Given the description of an element on the screen output the (x, y) to click on. 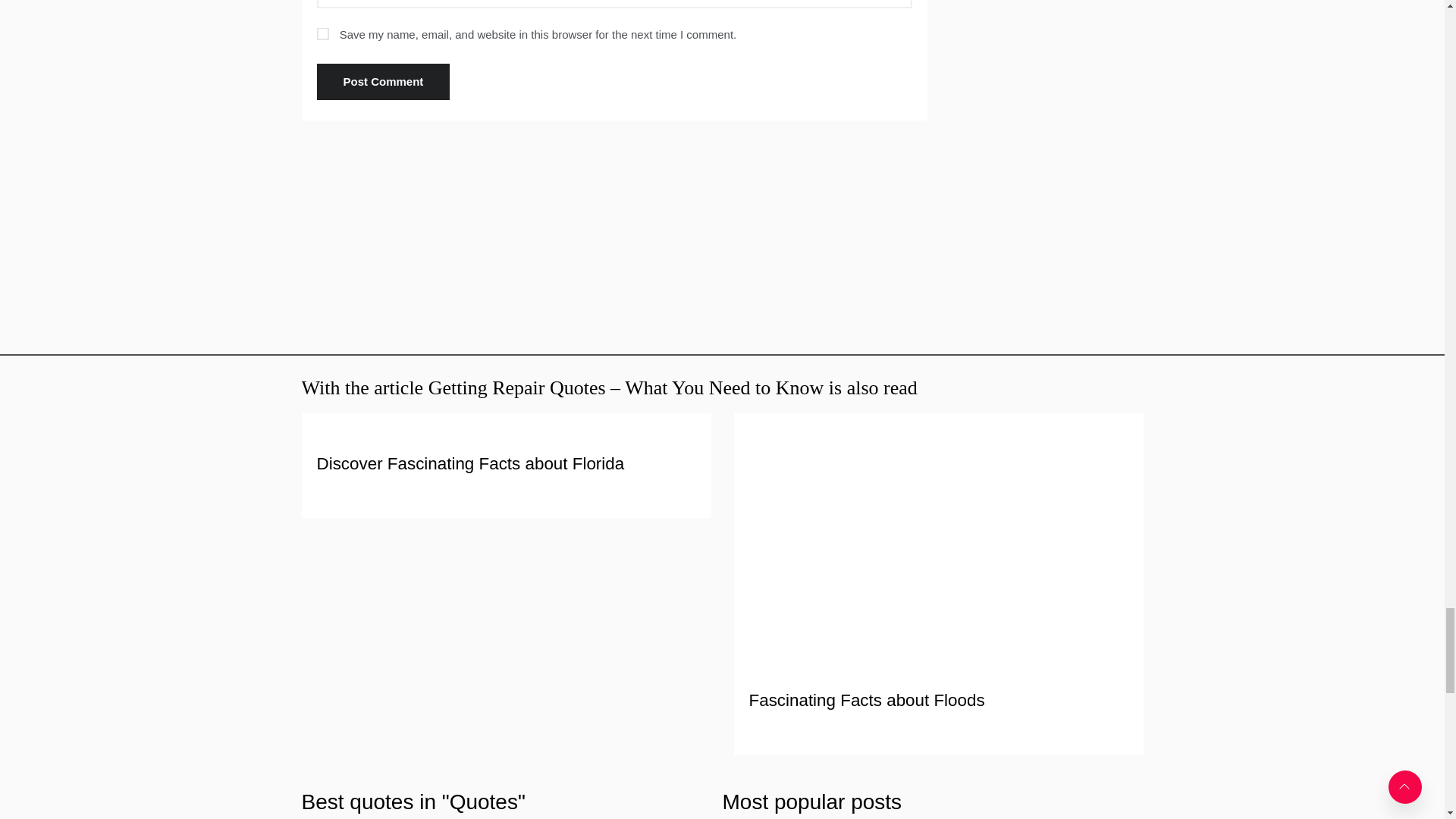
yes (323, 33)
Post Comment (383, 81)
Post Comment (383, 81)
